Given the description of an element on the screen output the (x, y) to click on. 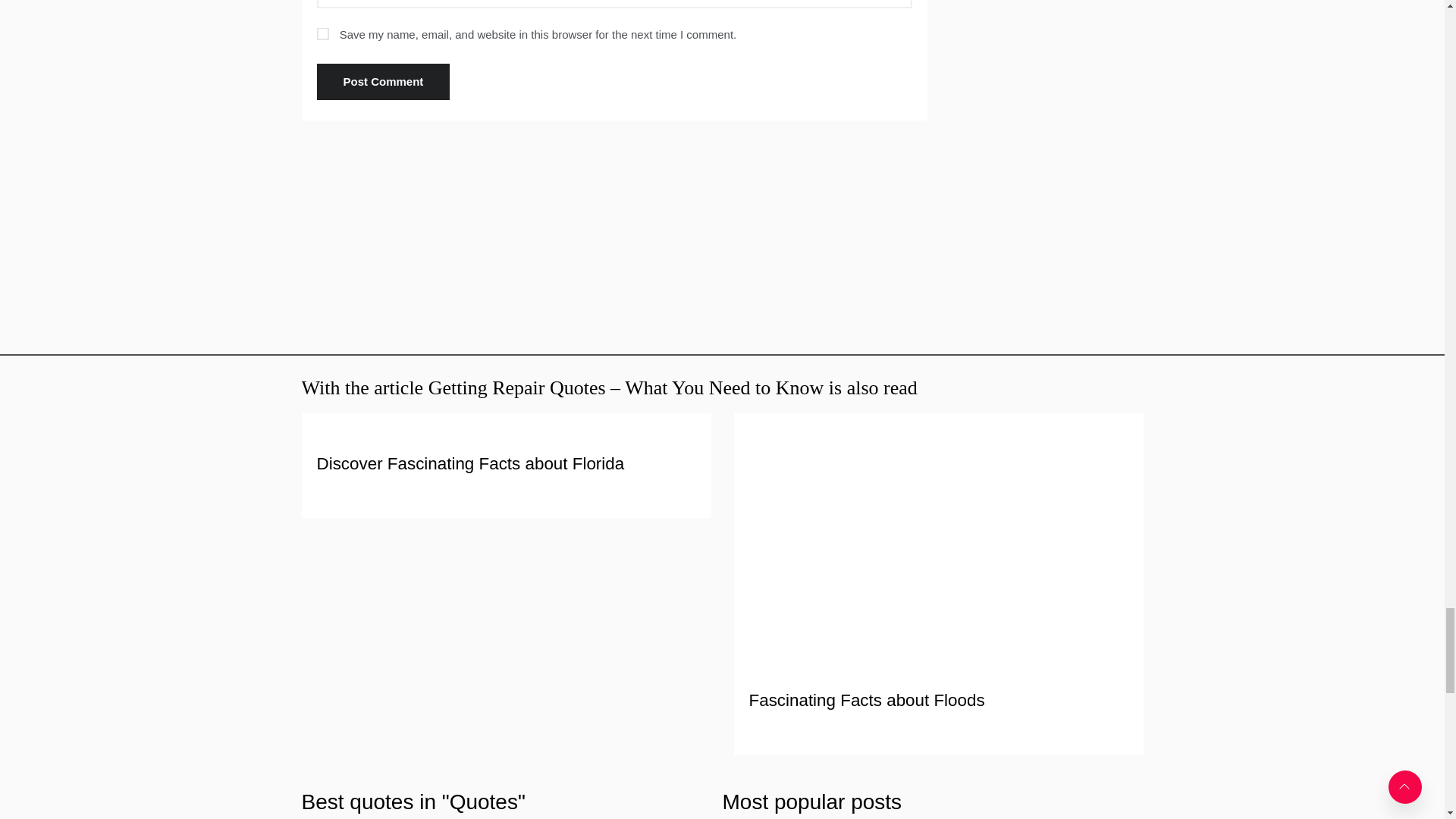
yes (323, 33)
Post Comment (383, 81)
Post Comment (383, 81)
